Given the description of an element on the screen output the (x, y) to click on. 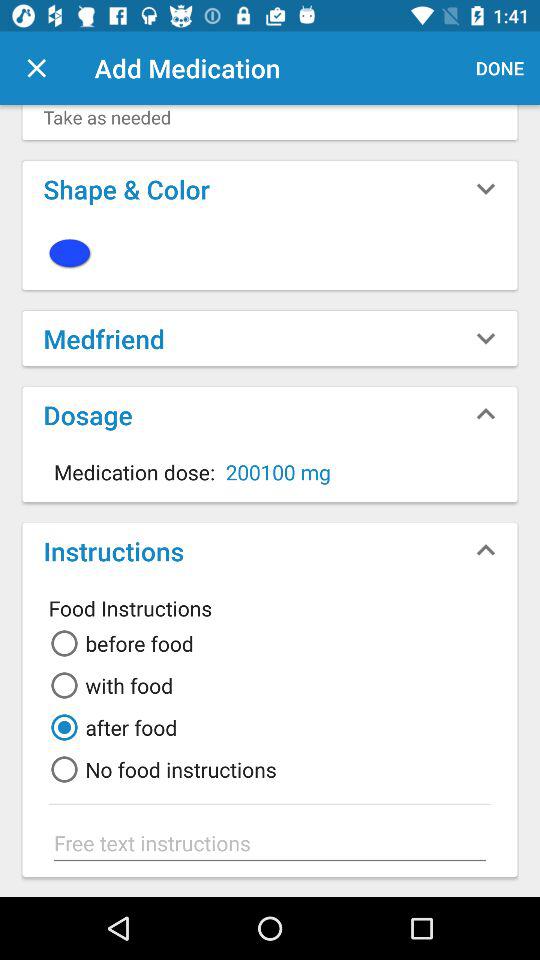
open item below the with food item (110, 727)
